Given the description of an element on the screen output the (x, y) to click on. 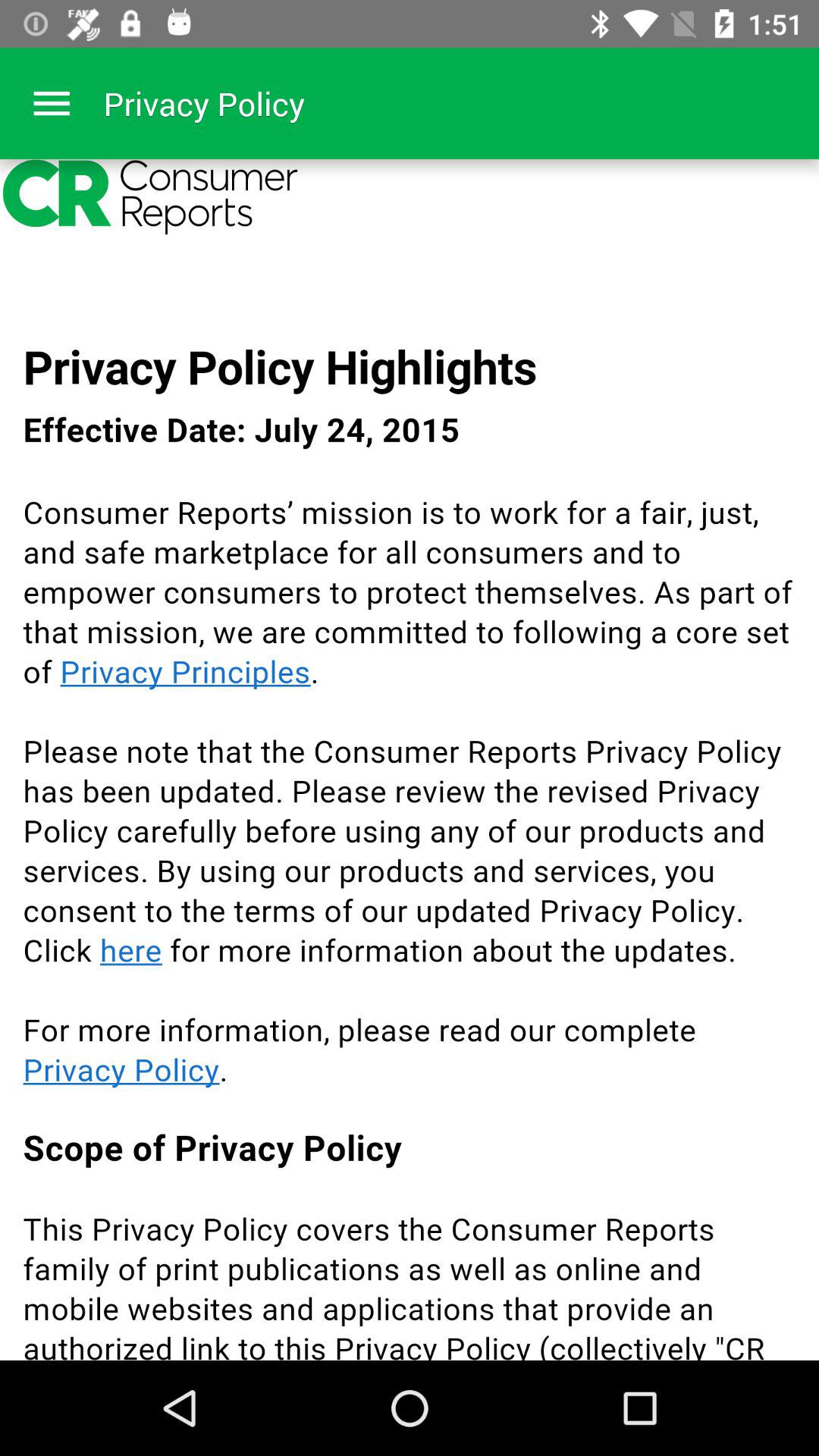
content page (409, 759)
